Given the description of an element on the screen output the (x, y) to click on. 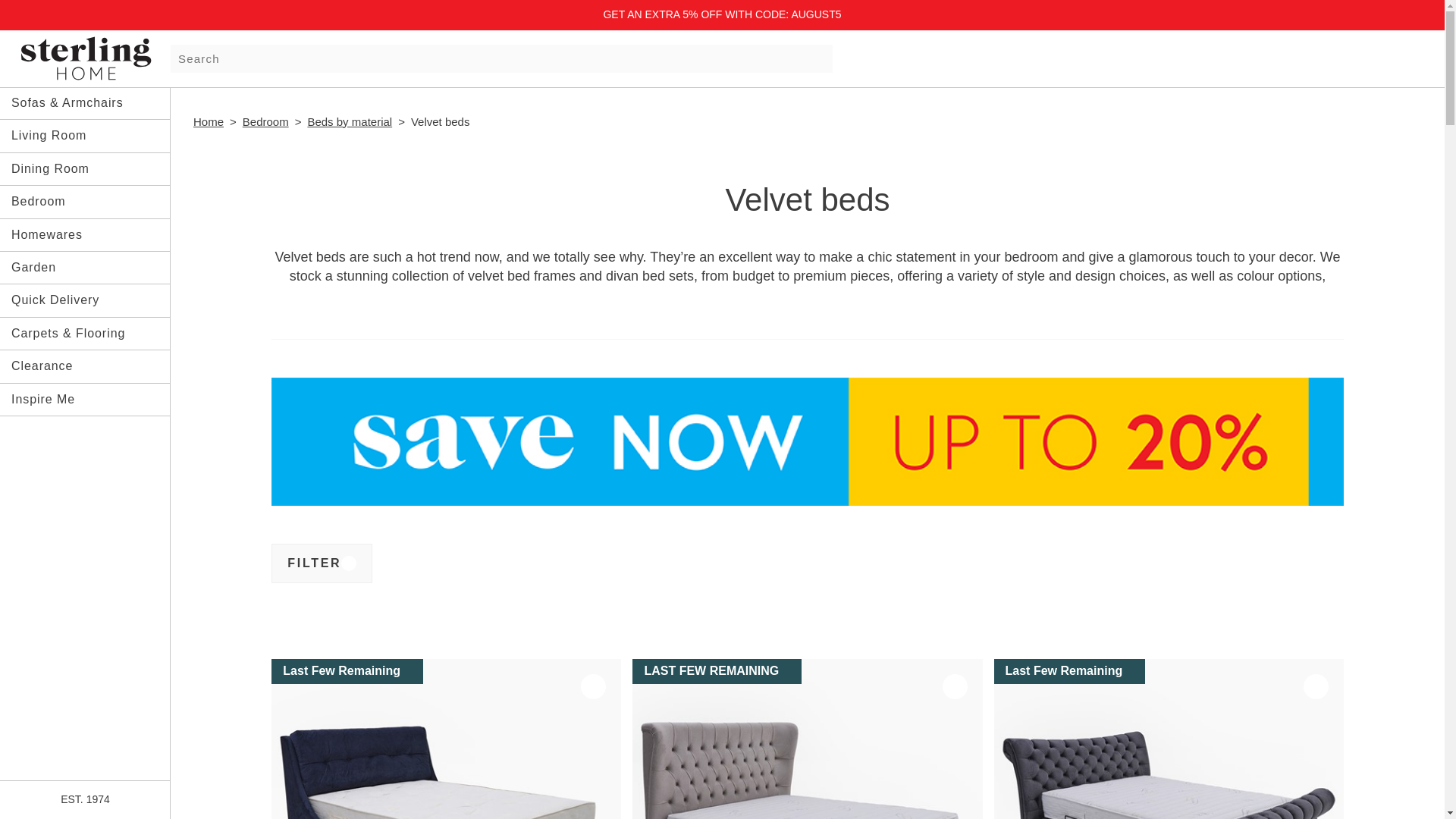
Instagram (24, 758)
Facebook (64, 758)
Store Locator (1279, 55)
TikTok (146, 758)
Pinterest (105, 758)
Basket (1376, 55)
Wishlist (1344, 55)
My Account (1311, 55)
